Given the description of an element on the screen output the (x, y) to click on. 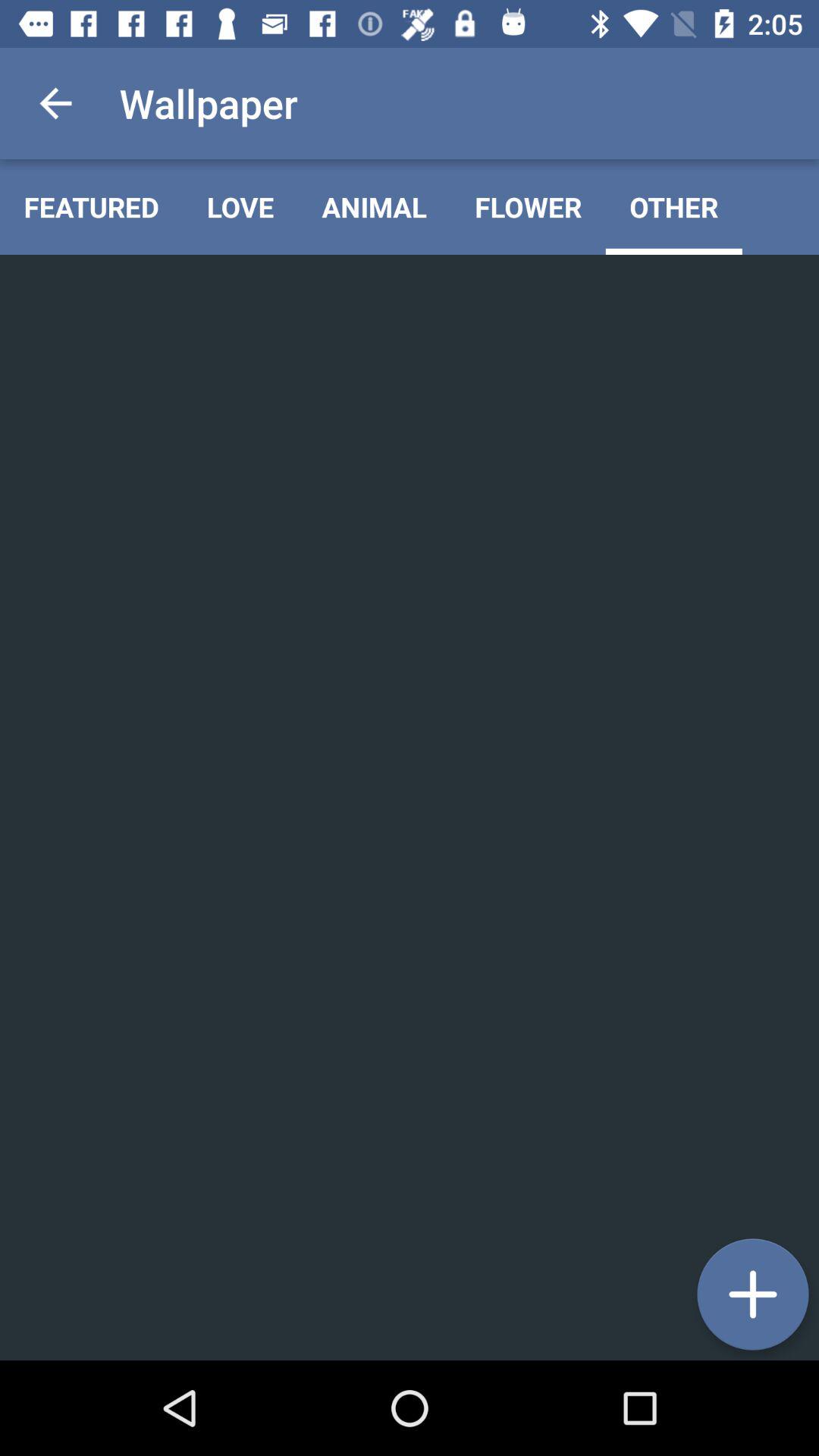
turn off icon next to the featured (240, 206)
